Given the description of an element on the screen output the (x, y) to click on. 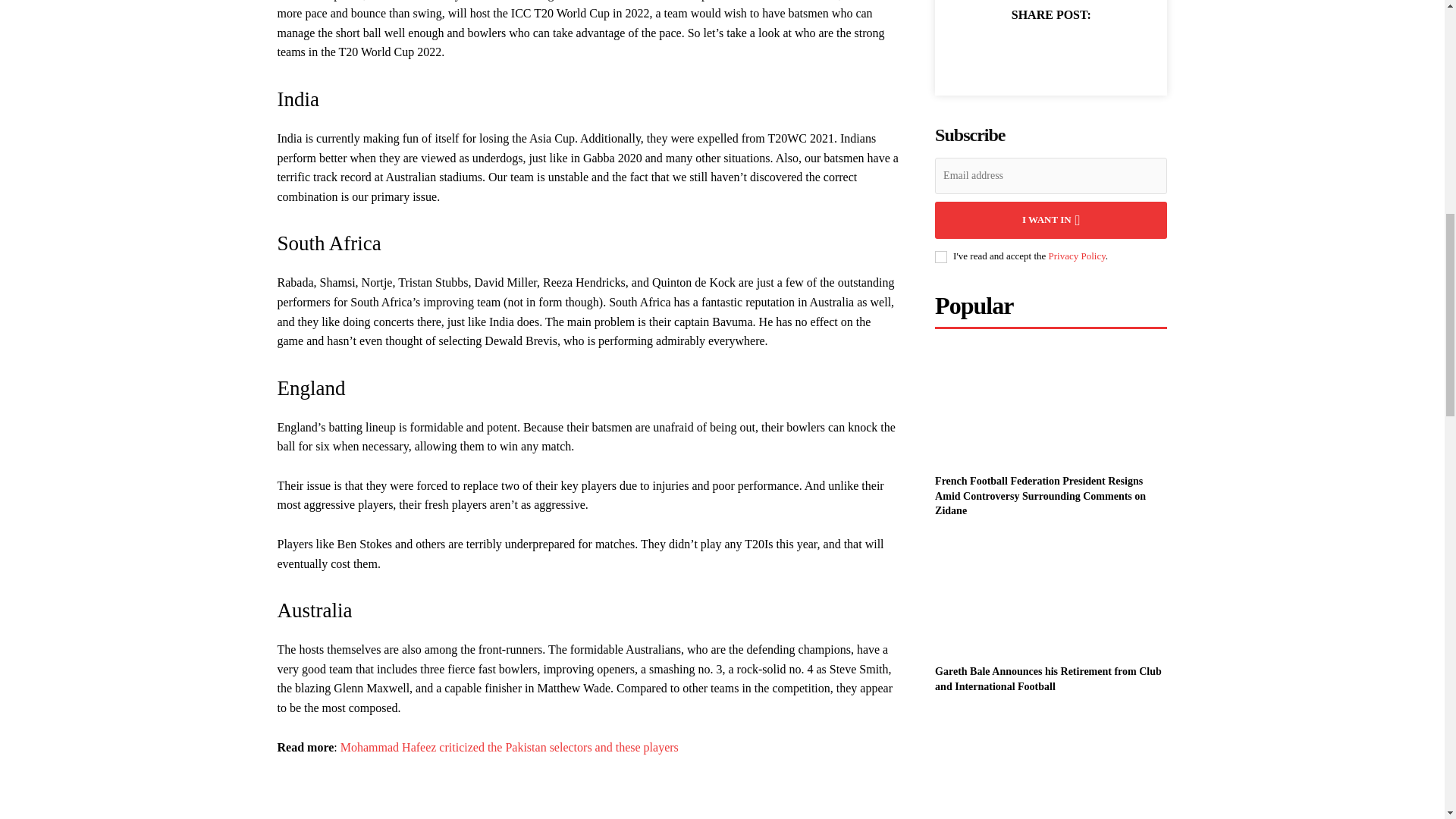
Ronaldo clashes with Messi in Al-Nassr vs PSG friendly match (1050, 766)
